Given the description of an element on the screen output the (x, y) to click on. 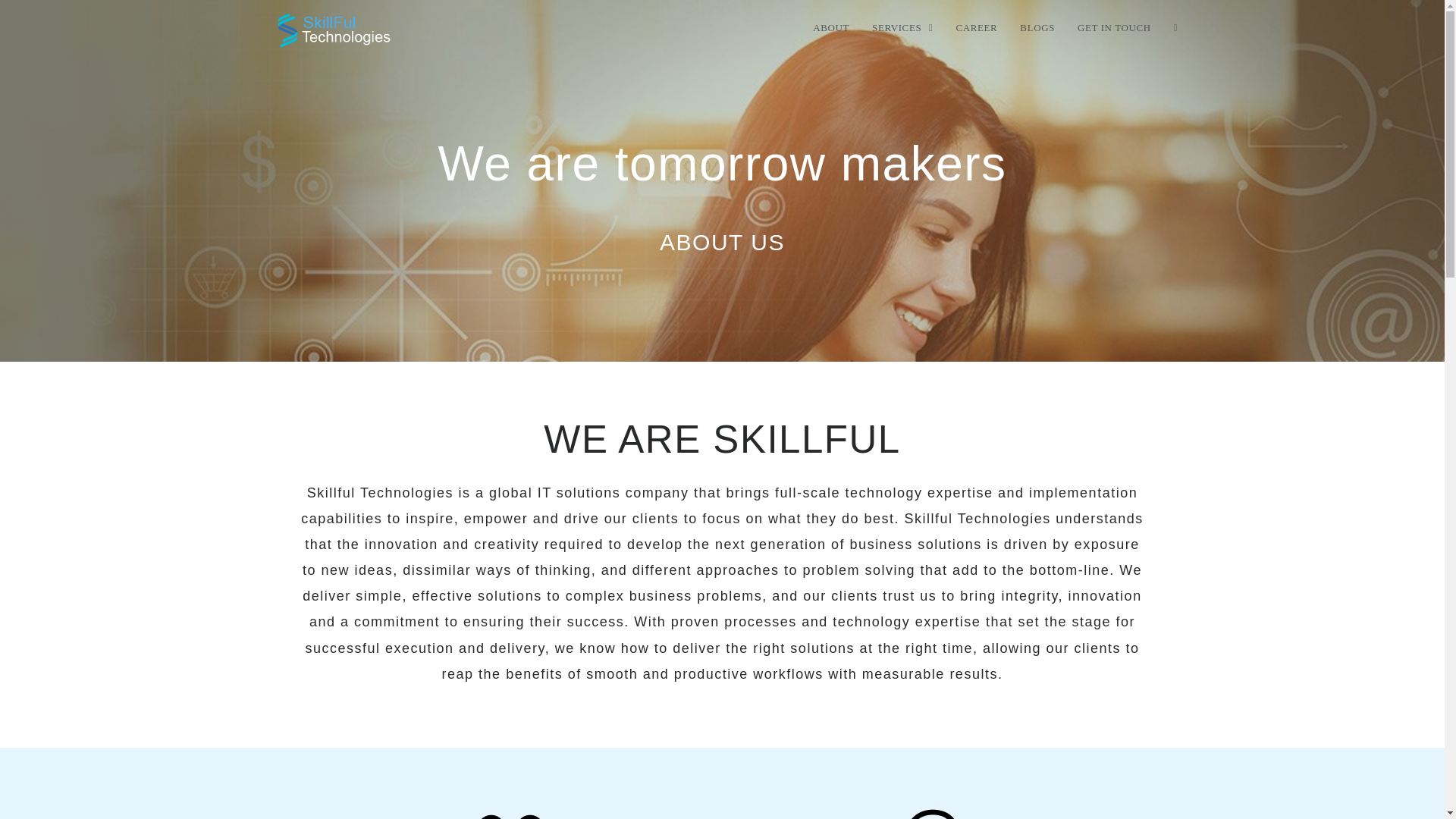
GET IN TOUCH (1113, 28)
ABOUT (831, 28)
SERVICES (901, 28)
BLOGS (1037, 28)
CAREER (976, 28)
